Given the description of an element on the screen output the (x, y) to click on. 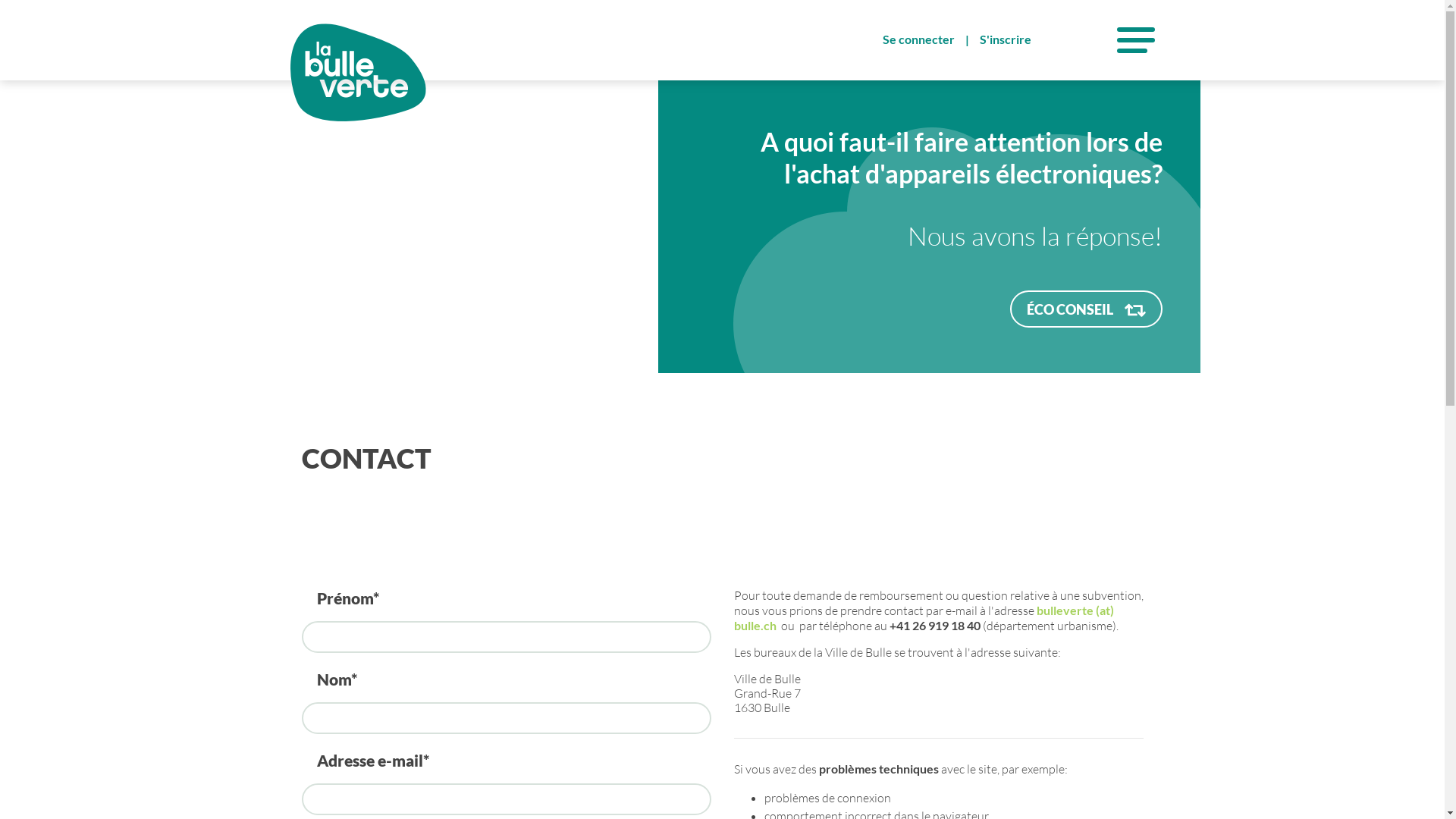
S'inscrire Element type: text (1004, 39)
Se connecter Element type: text (917, 39)
bulleverte (at) bulle.ch   Element type: text (923, 617)
